Given the description of an element on the screen output the (x, y) to click on. 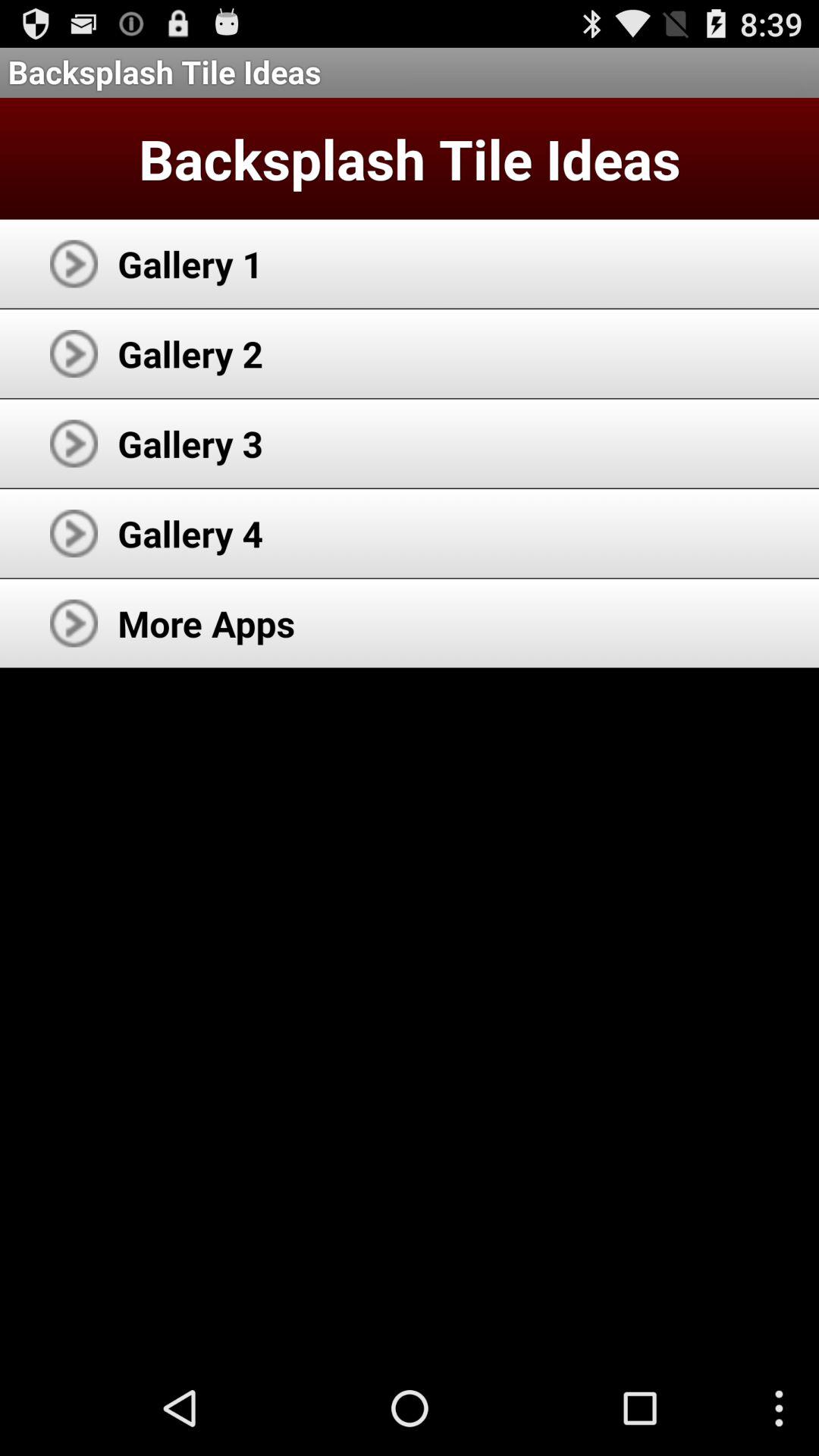
open item above gallery 3 item (190, 353)
